Given the description of an element on the screen output the (x, y) to click on. 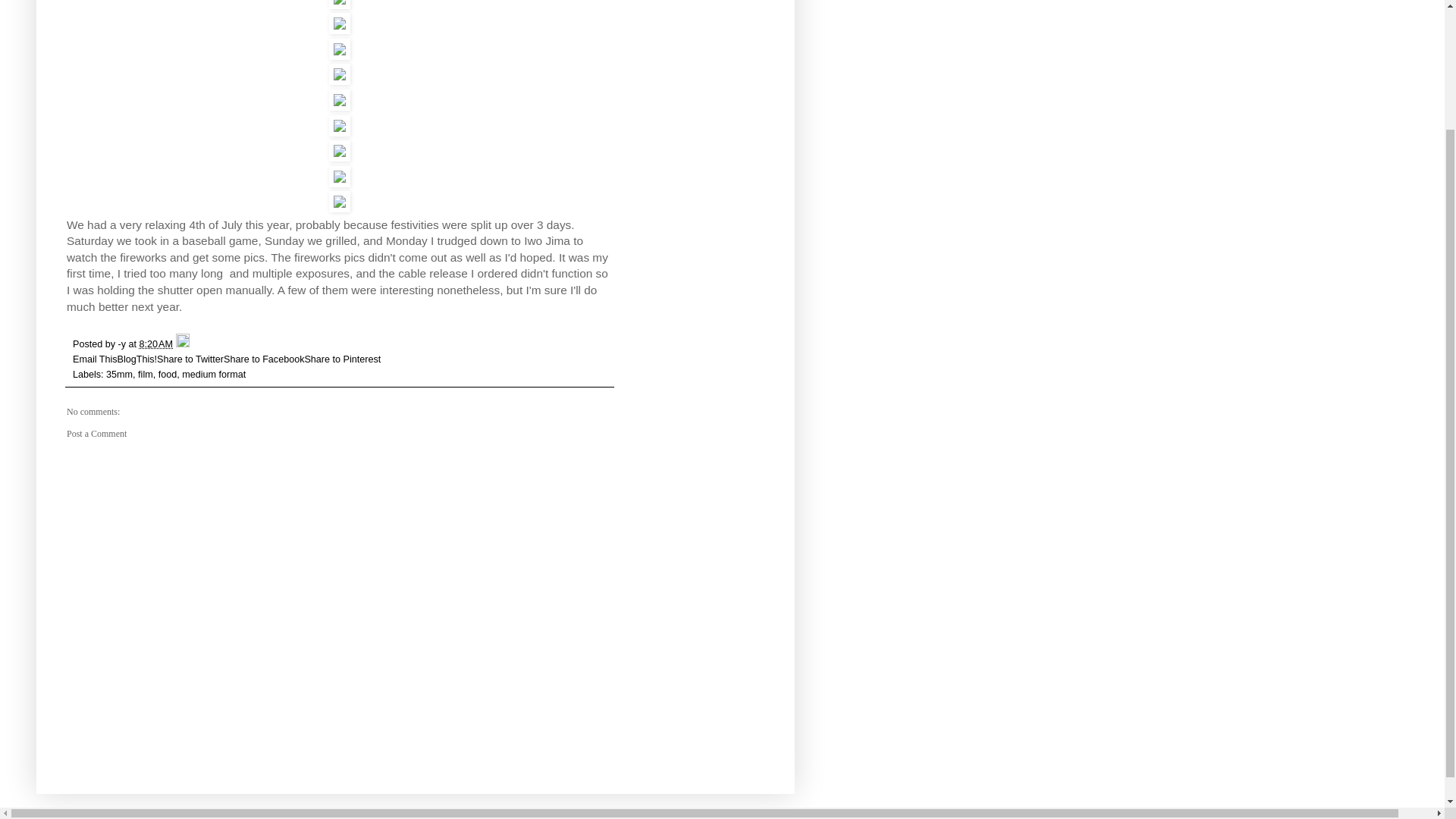
Email This (94, 358)
Share to Facebook (264, 358)
food (167, 374)
Share to Pinterest (342, 358)
permanent link (156, 344)
BlogThis! (137, 358)
Share to Twitter (190, 358)
Edit Post (182, 344)
medium format (214, 374)
Email This (94, 358)
35mm (119, 374)
BlogThis! (137, 358)
Share to Pinterest (342, 358)
Share to Twitter (190, 358)
